Given the description of an element on the screen output the (x, y) to click on. 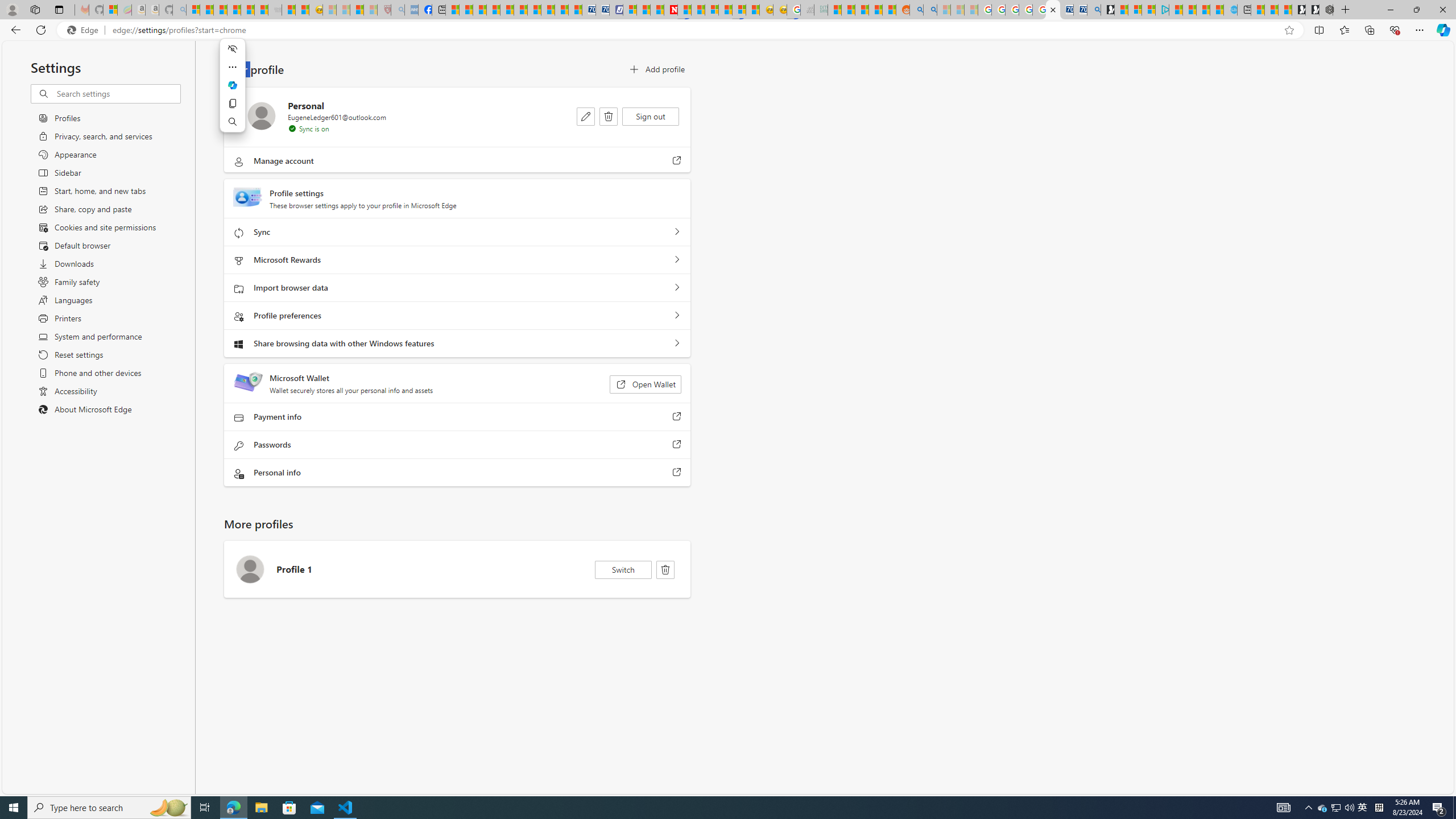
Class: c01881 (608, 116)
Mini menu on text selection (231, 84)
list of asthma inhalers uk - Search - Sleeping (397, 9)
Microsoft-Report a Concern to Bing (110, 9)
Trusted Community Engagement and Contributions | Guidelines (683, 9)
DITOGAMES AG Imprint - Sleeping (820, 9)
